Given the description of an element on the screen output the (x, y) to click on. 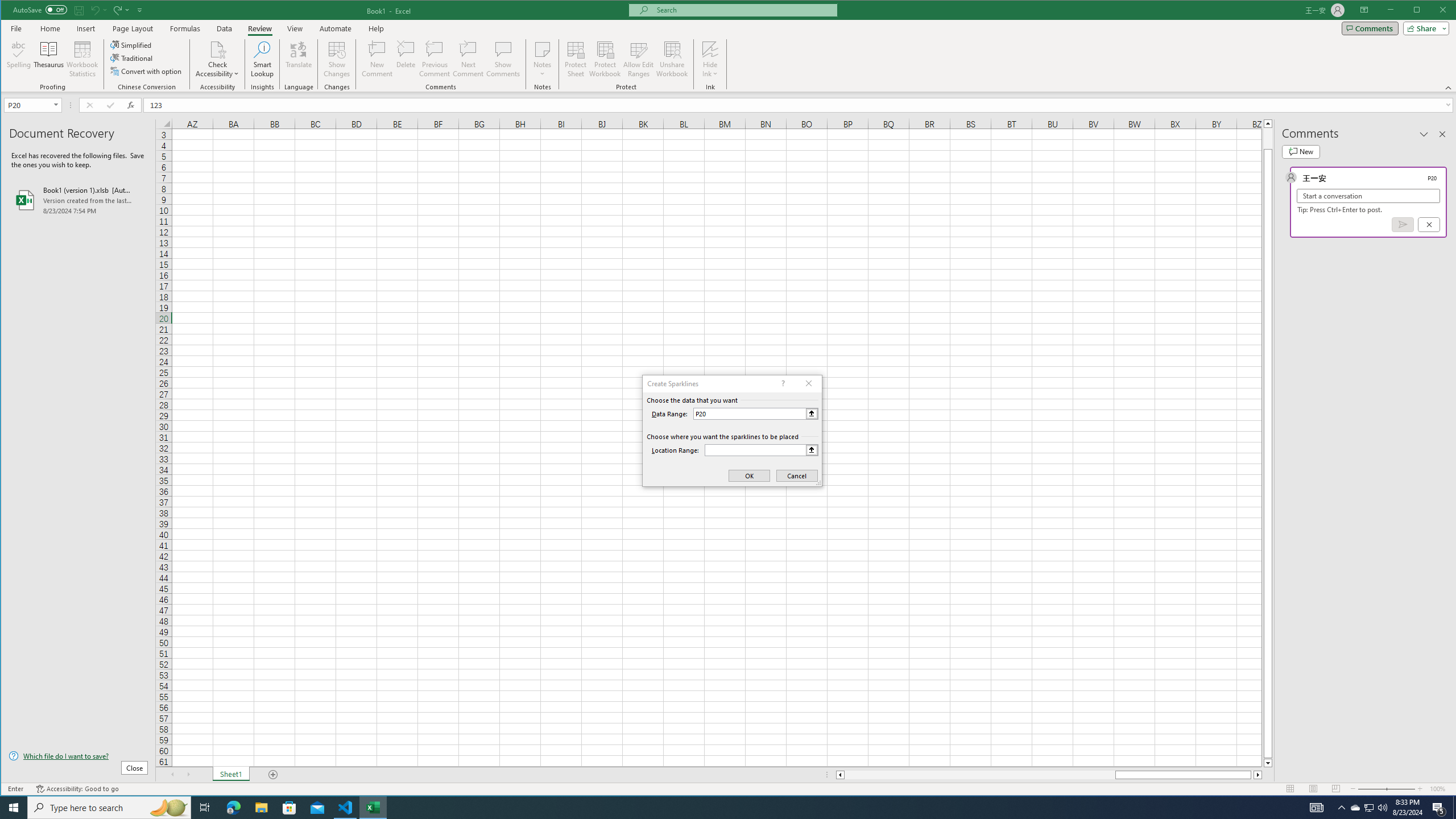
Maximize (1432, 11)
Workbook Statistics (82, 59)
New Comment (377, 59)
Protect Sheet... (575, 59)
Next Comment (467, 59)
New comment (1300, 151)
Line down (1267, 763)
Traditional (132, 57)
Notes (541, 59)
Column right (1258, 774)
